Given the description of an element on the screen output the (x, y) to click on. 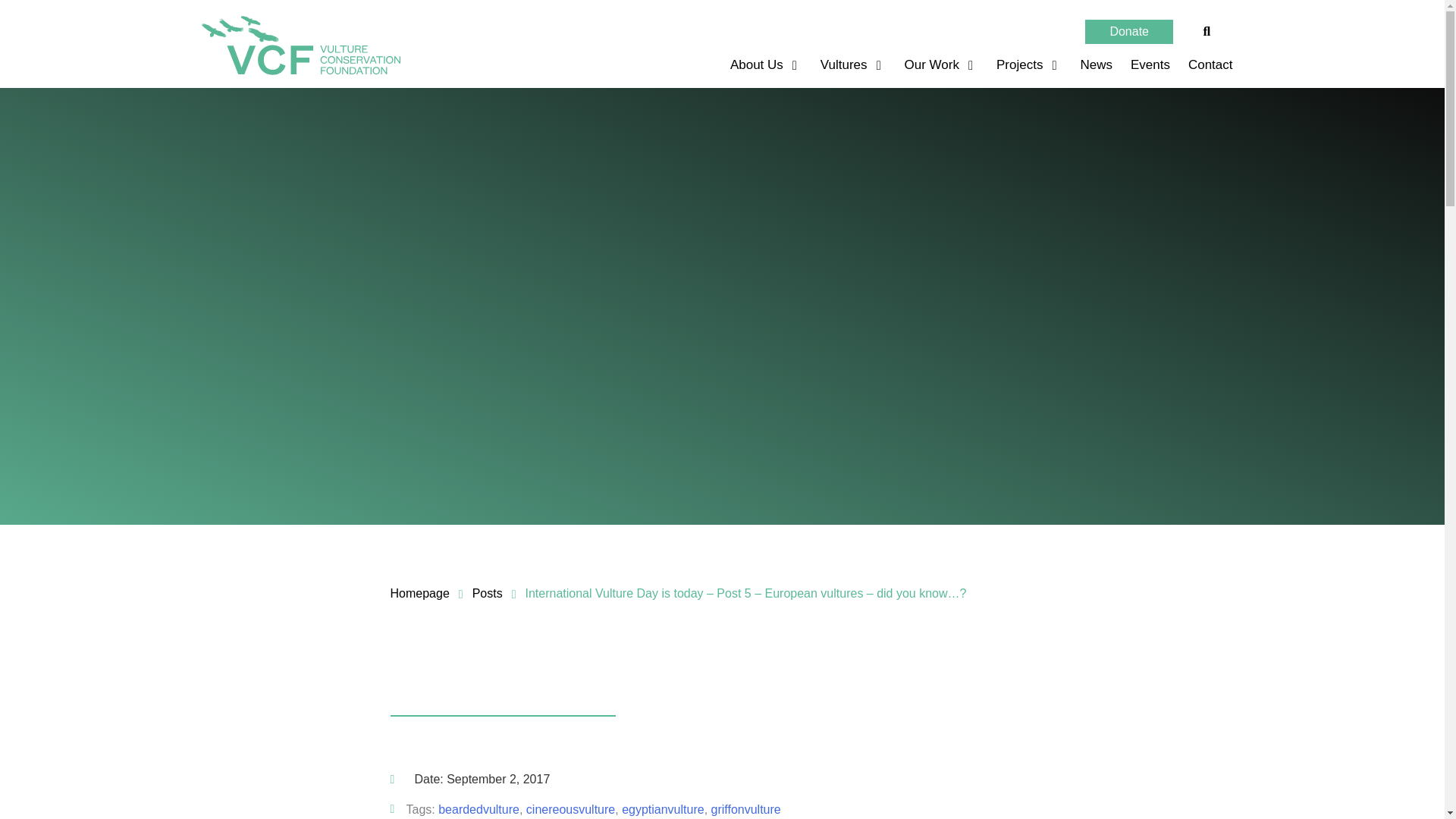
Donate (1128, 31)
Our Work (933, 64)
Vultures (845, 64)
About Us (758, 64)
